Given the description of an element on the screen output the (x, y) to click on. 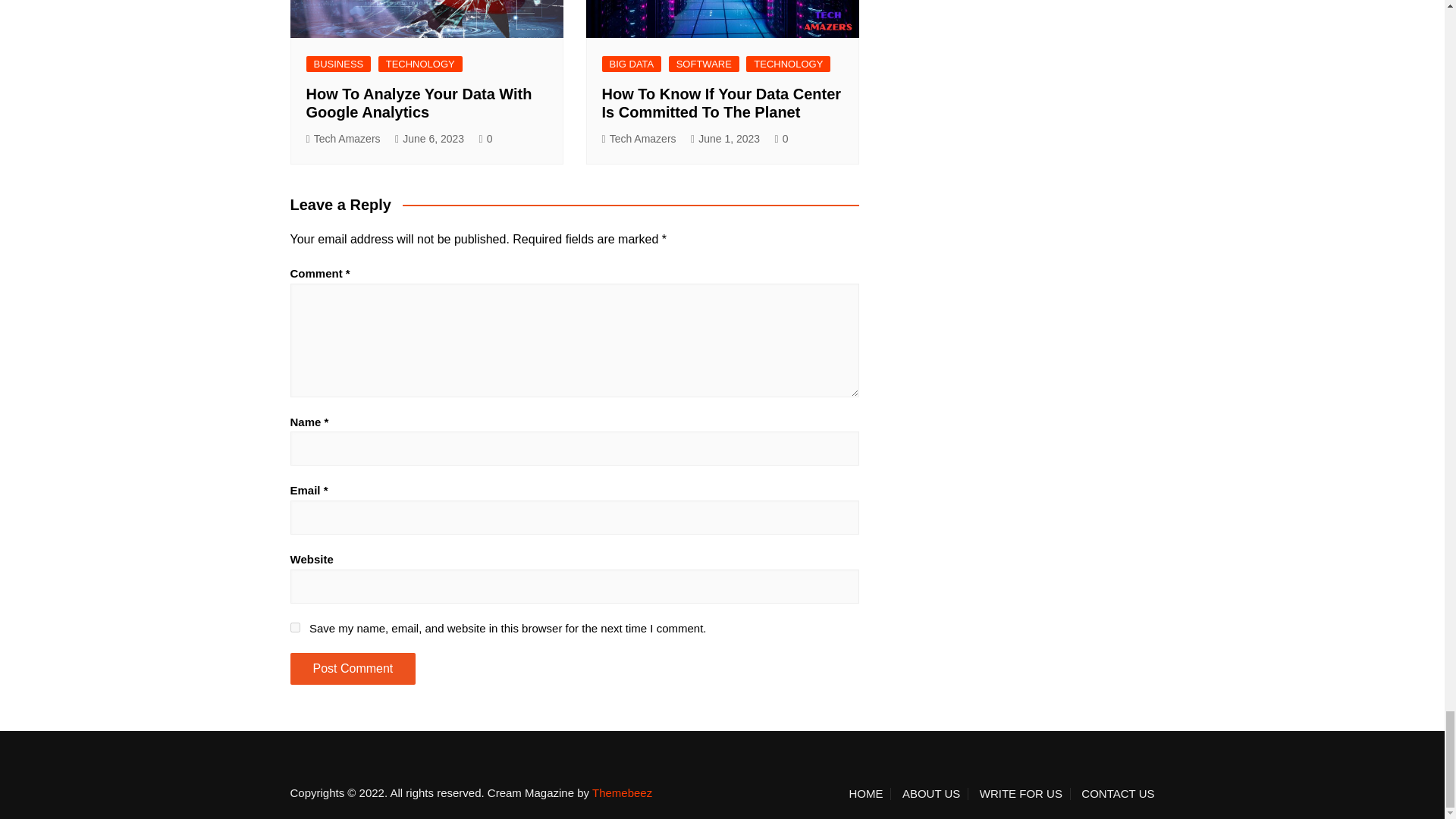
Post Comment (351, 668)
yes (294, 627)
